Given the description of an element on the screen output the (x, y) to click on. 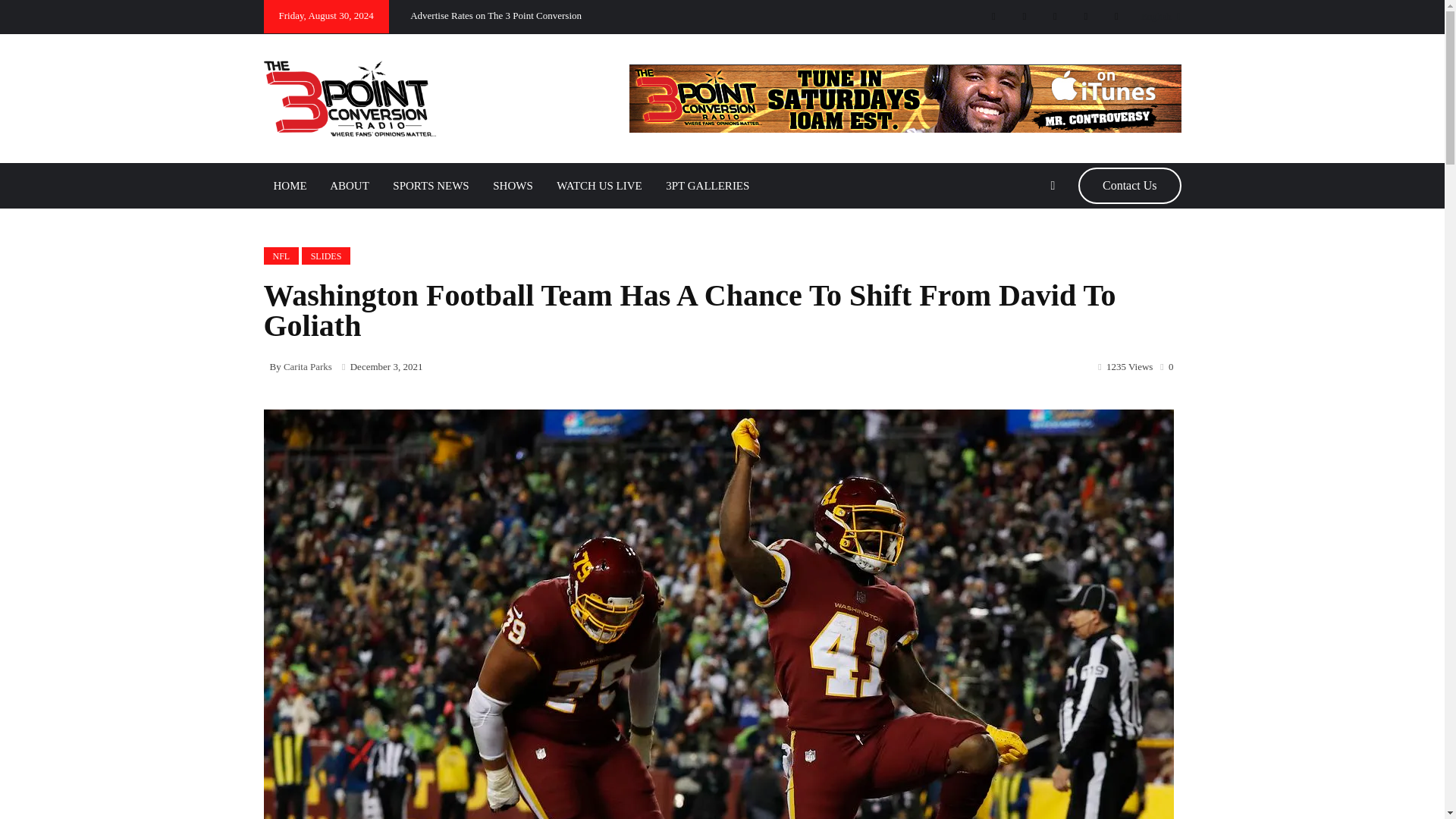
SPORTS NEWS (430, 185)
3PT GALLERIES (707, 185)
Advertise Rates on The 3 Point Conversion (495, 15)
WATCH US LIVE (599, 185)
English (1156, 16)
